Given the description of an element on the screen output the (x, y) to click on. 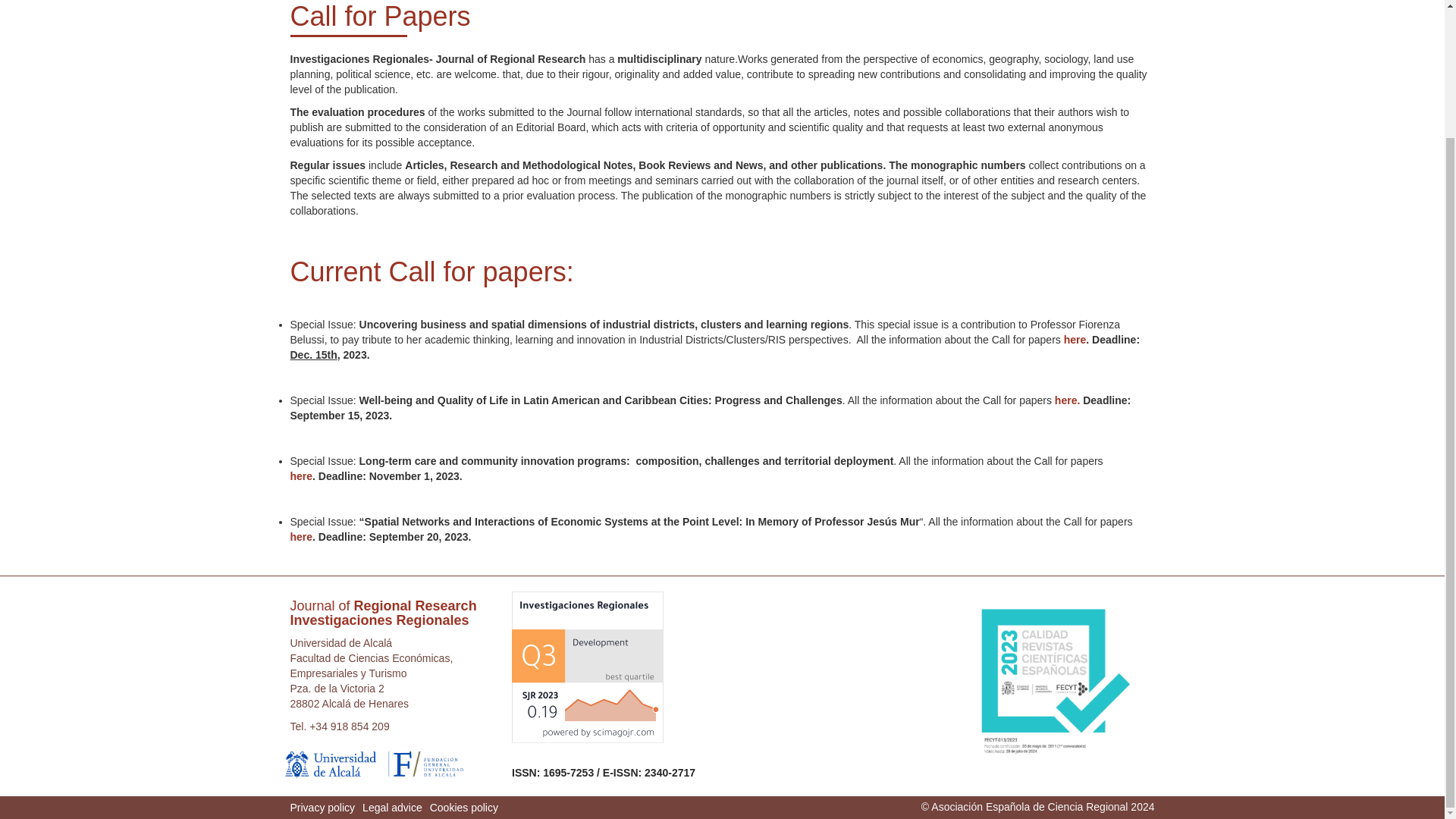
here (1075, 339)
here (301, 476)
here (301, 536)
here. (1067, 399)
